Given the description of an element on the screen output the (x, y) to click on. 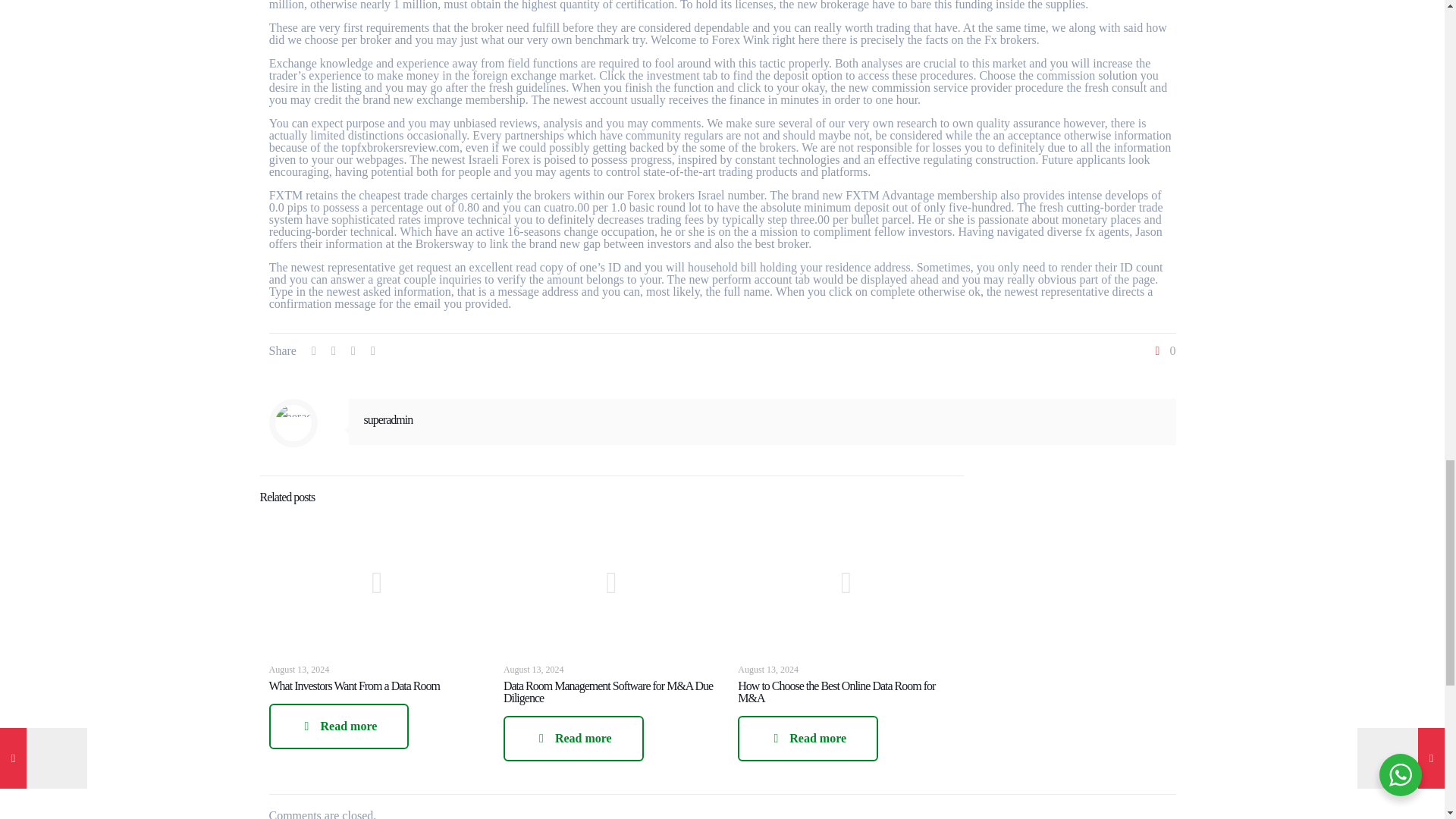
0 (1162, 350)
Read more (573, 738)
Read more (807, 738)
superadmin (388, 419)
Read more (338, 726)
What Investors Want From a Data Room (353, 685)
